Given the description of an element on the screen output the (x, y) to click on. 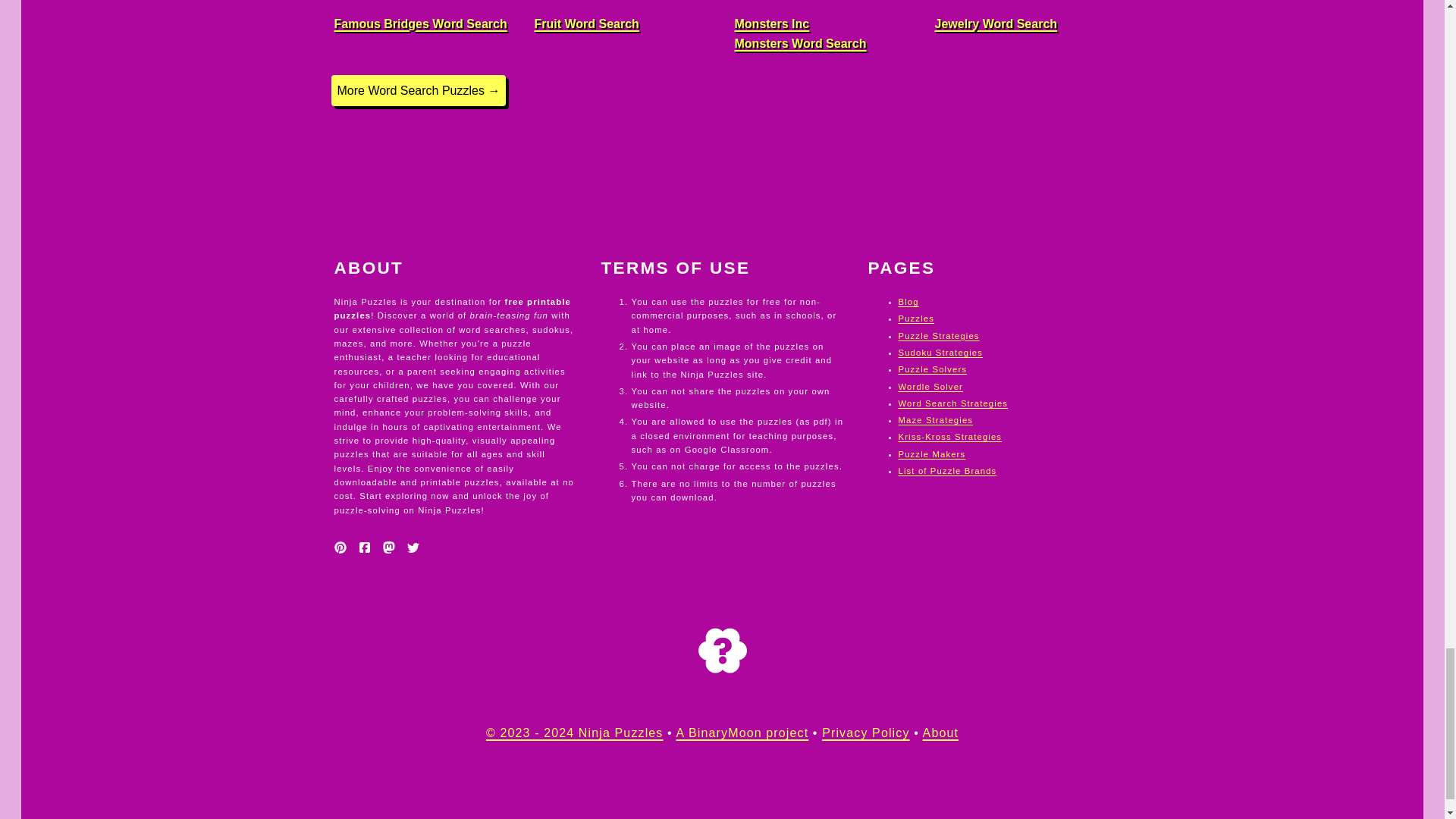
Free Printable Fruit themed Word Search Puzzle  Puzzle (622, 27)
Follow on Pinterest (339, 547)
Free Printable Jewelry themed Word Search Puzzle  Puzzle (1021, 27)
